Given the description of an element on the screen output the (x, y) to click on. 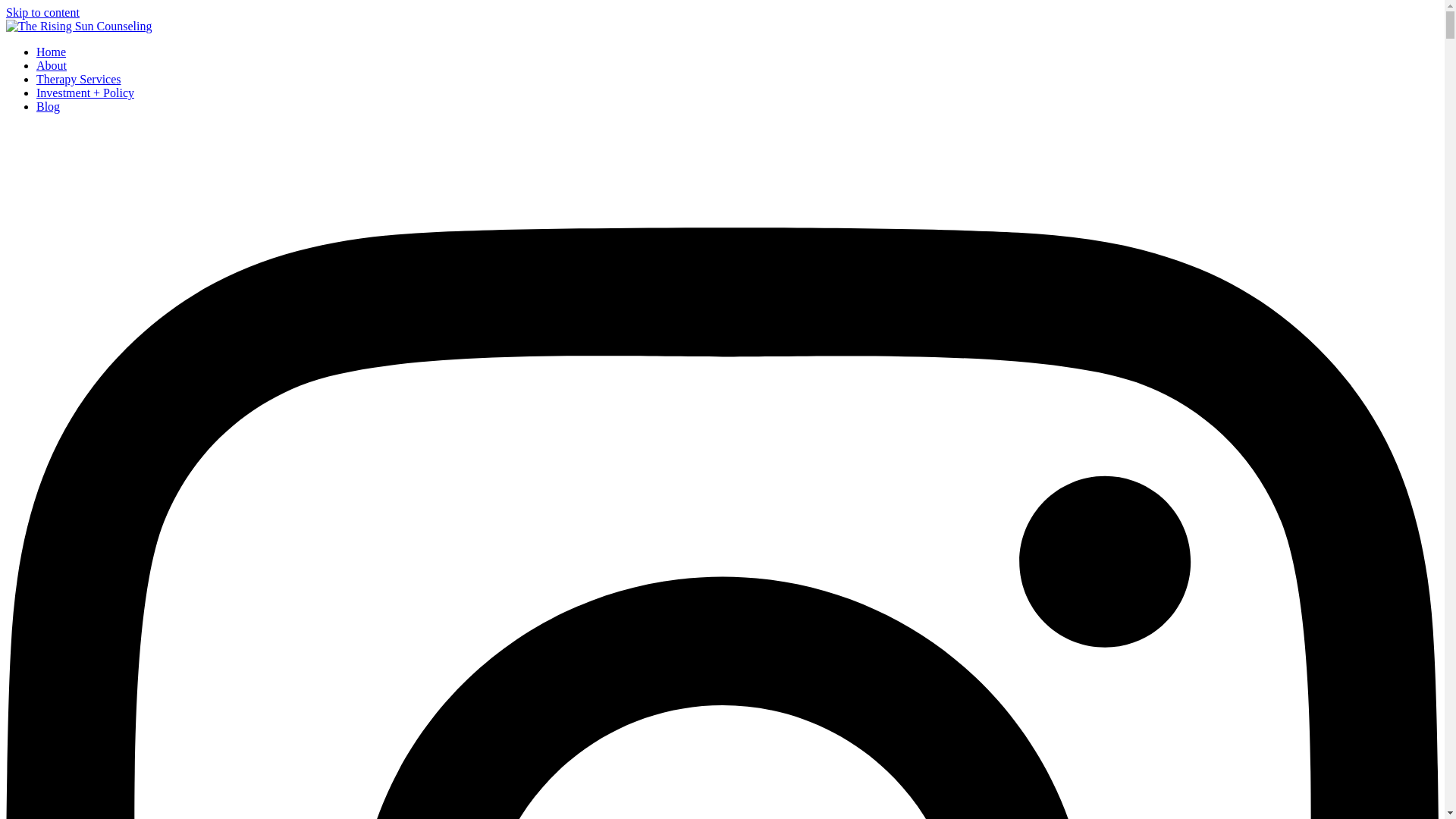
Blog (47, 106)
About (51, 65)
Home (50, 51)
Therapy Services (78, 78)
Skip to content (42, 11)
Skip to content (42, 11)
